Given the description of an element on the screen output the (x, y) to click on. 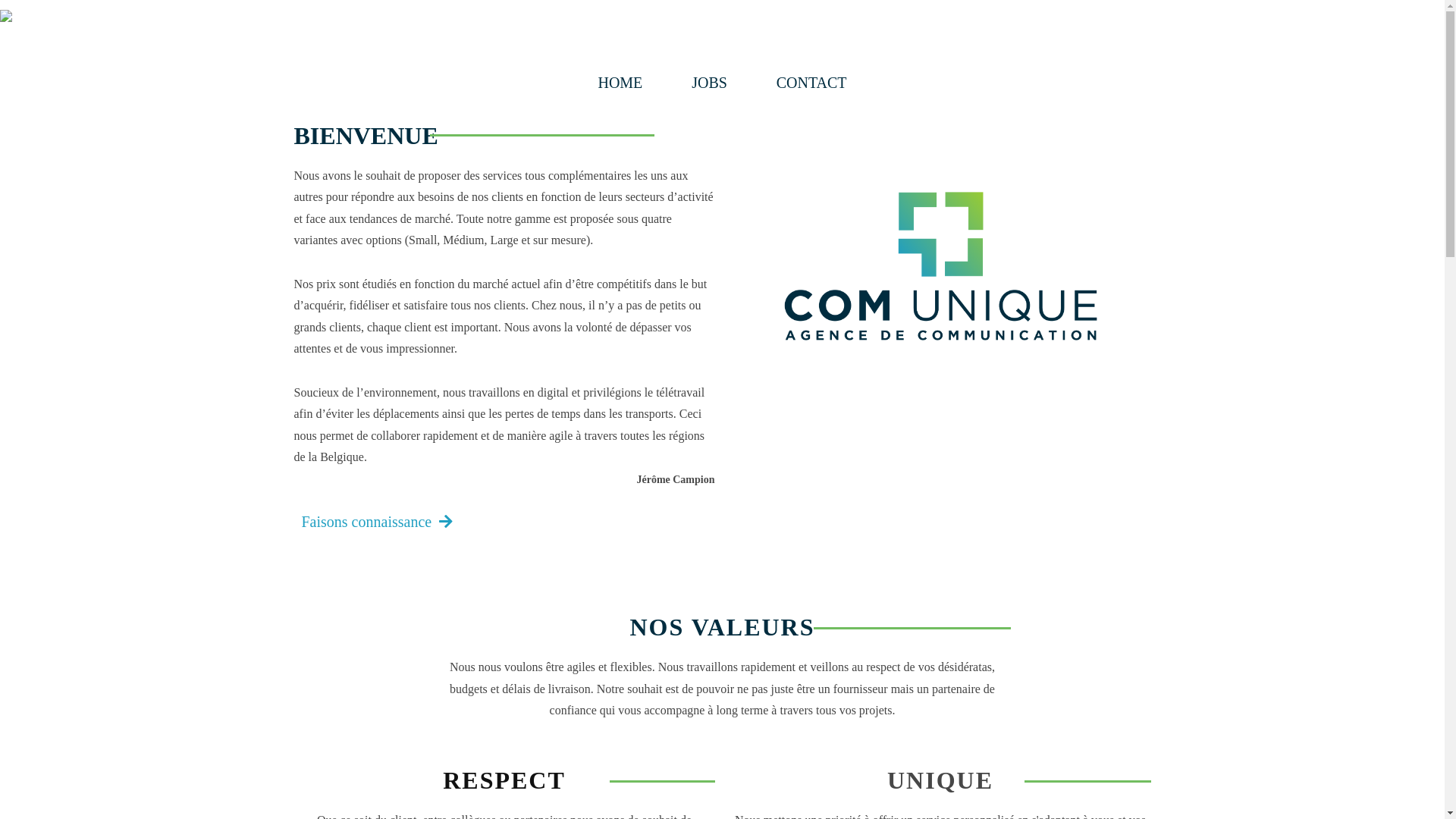
JOBS Element type: text (708, 82)
HOME Element type: text (619, 82)
CONTACT Element type: text (811, 82)
Faisons connaissance Element type: text (377, 520)
